Given the description of an element on the screen output the (x, y) to click on. 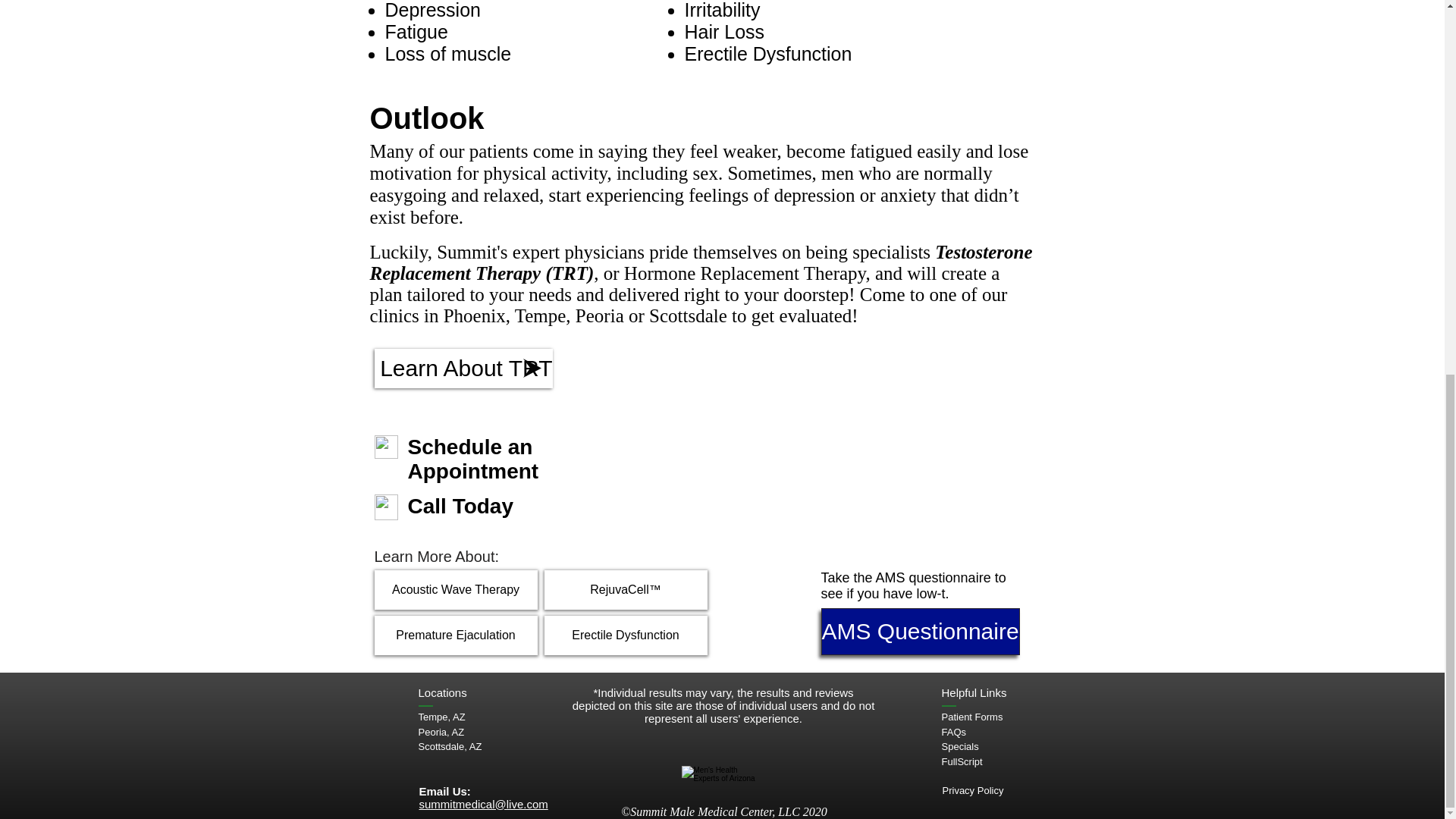
Tempe, AZ (442, 716)
Learn About TRT (463, 368)
Erectile Dysfunction (625, 635)
Acoustic Wave Therapy (455, 589)
Peoria, AZ (441, 731)
AMS Questionnaire (920, 631)
Call Today (460, 505)
Schedule an Appointment (472, 458)
Locations (443, 692)
Premature Ejaculation (455, 635)
